Given the description of an element on the screen output the (x, y) to click on. 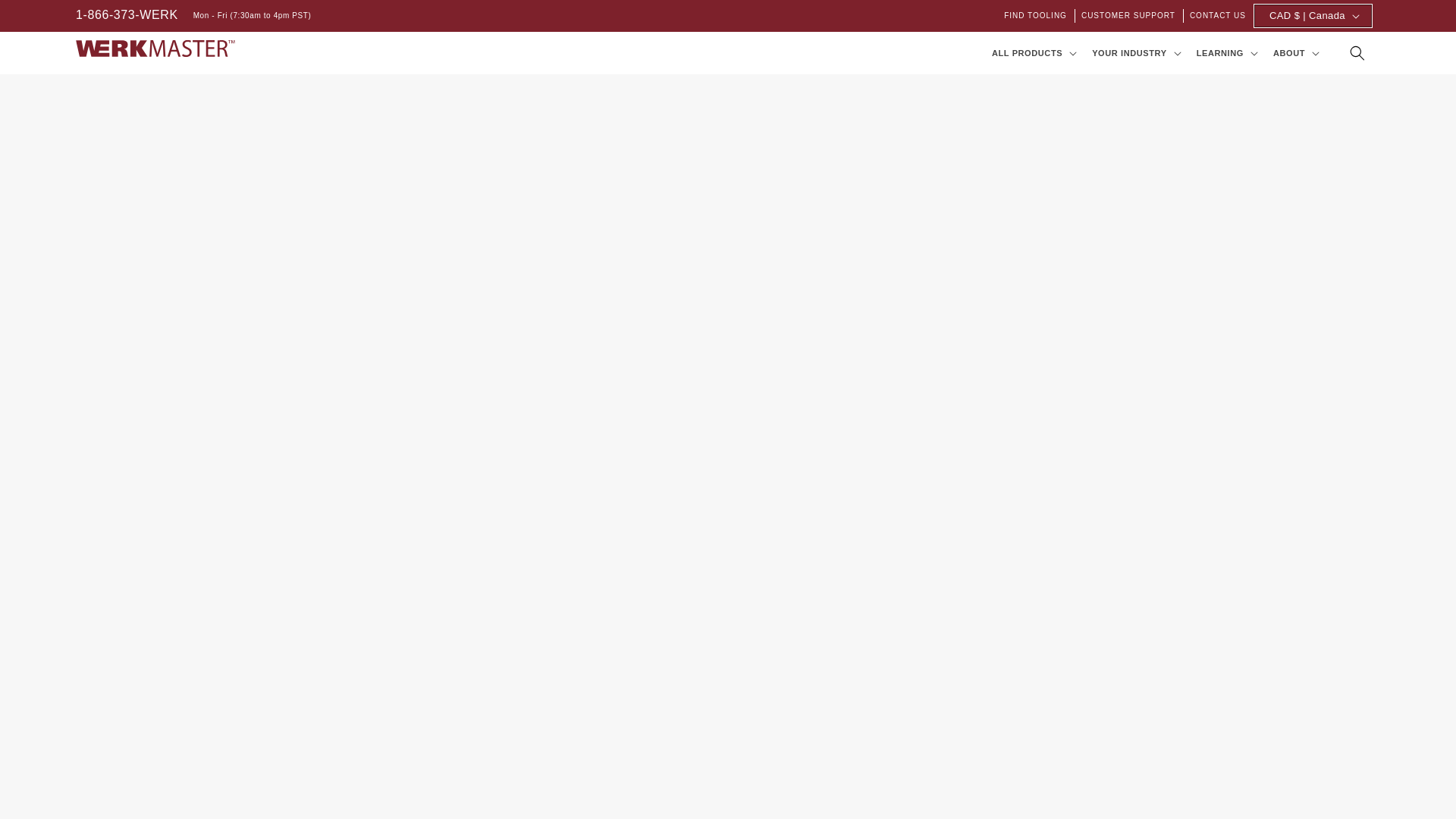
Skip to content (45, 17)
FIND TOOLING (1036, 15)
1-866-373-WERK (126, 15)
CUSTOMER SUPPORT (1129, 15)
CONTACT US (1218, 15)
